Given the description of an element on the screen output the (x, y) to click on. 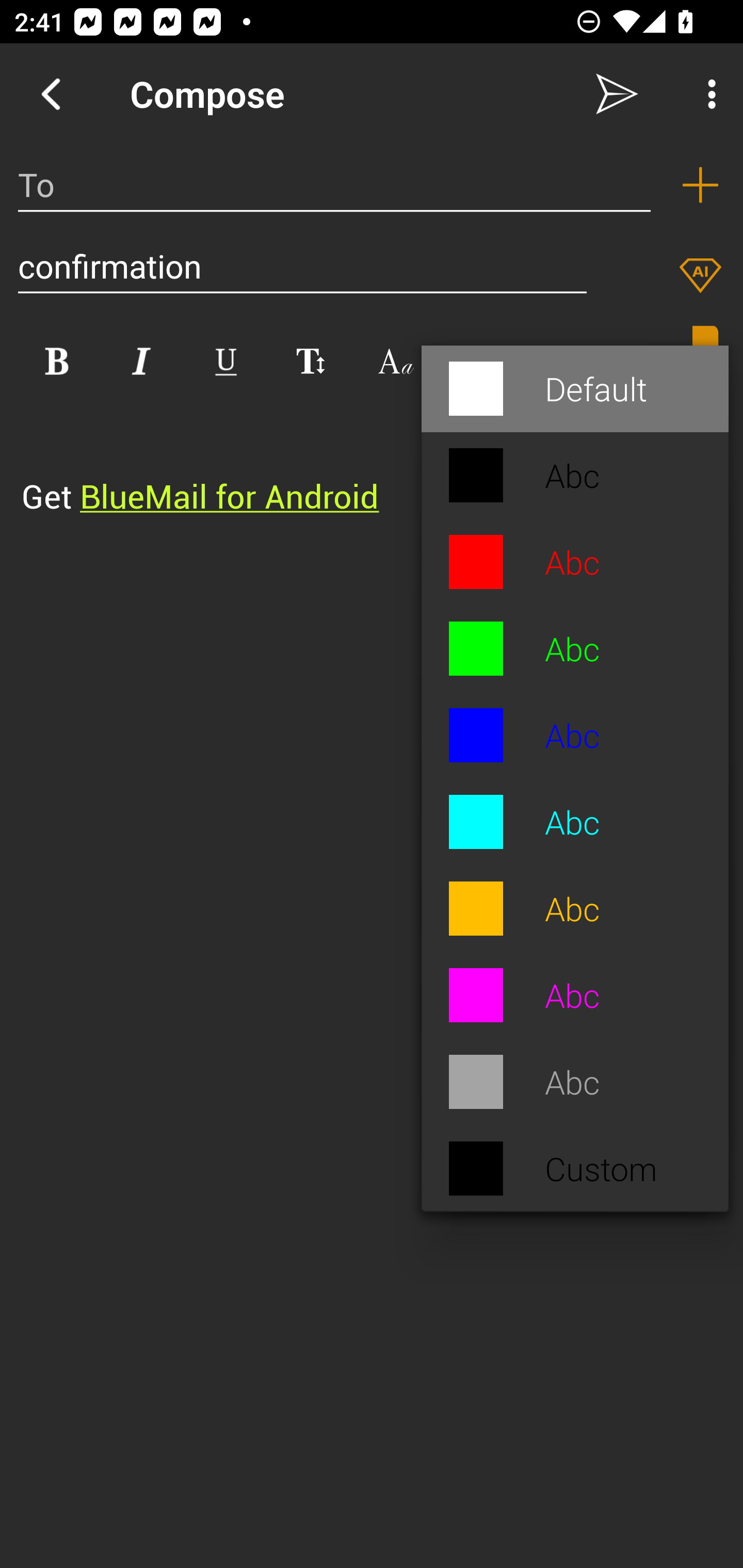
Default (574, 388)
Abc (574, 475)
Abc (574, 562)
Abc (574, 648)
Abc (574, 735)
Abc (574, 822)
Abc (574, 908)
Abc (574, 994)
Abc (574, 1081)
Custom (574, 1168)
